Given the description of an element on the screen output the (x, y) to click on. 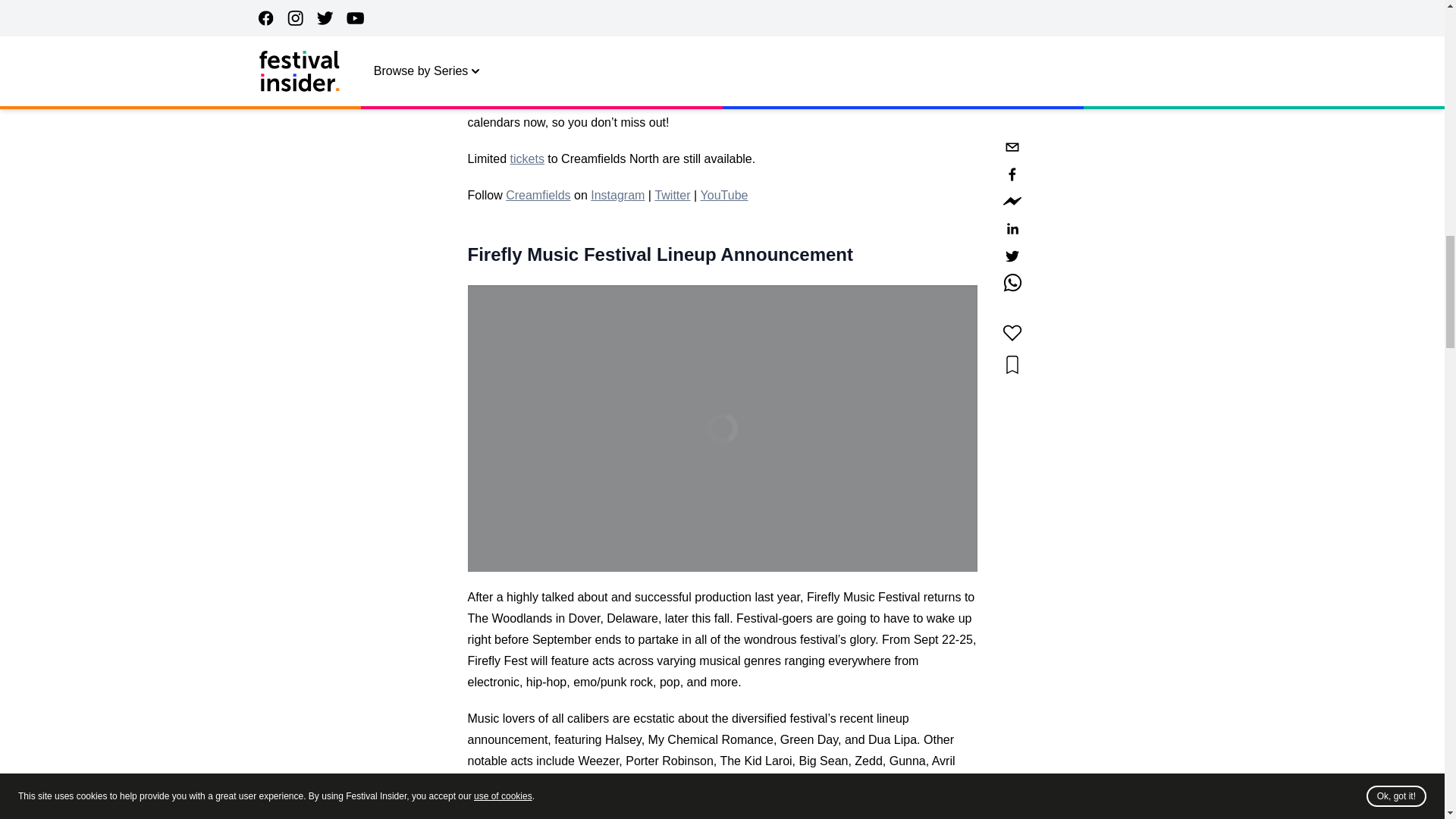
tickets (527, 158)
Anna Tur (715, 14)
Twitter (671, 195)
Elderbrook (780, 781)
Instagram (618, 195)
Creamfields (537, 195)
YouTube (724, 195)
Franky Wah (652, 21)
